Given the description of an element on the screen output the (x, y) to click on. 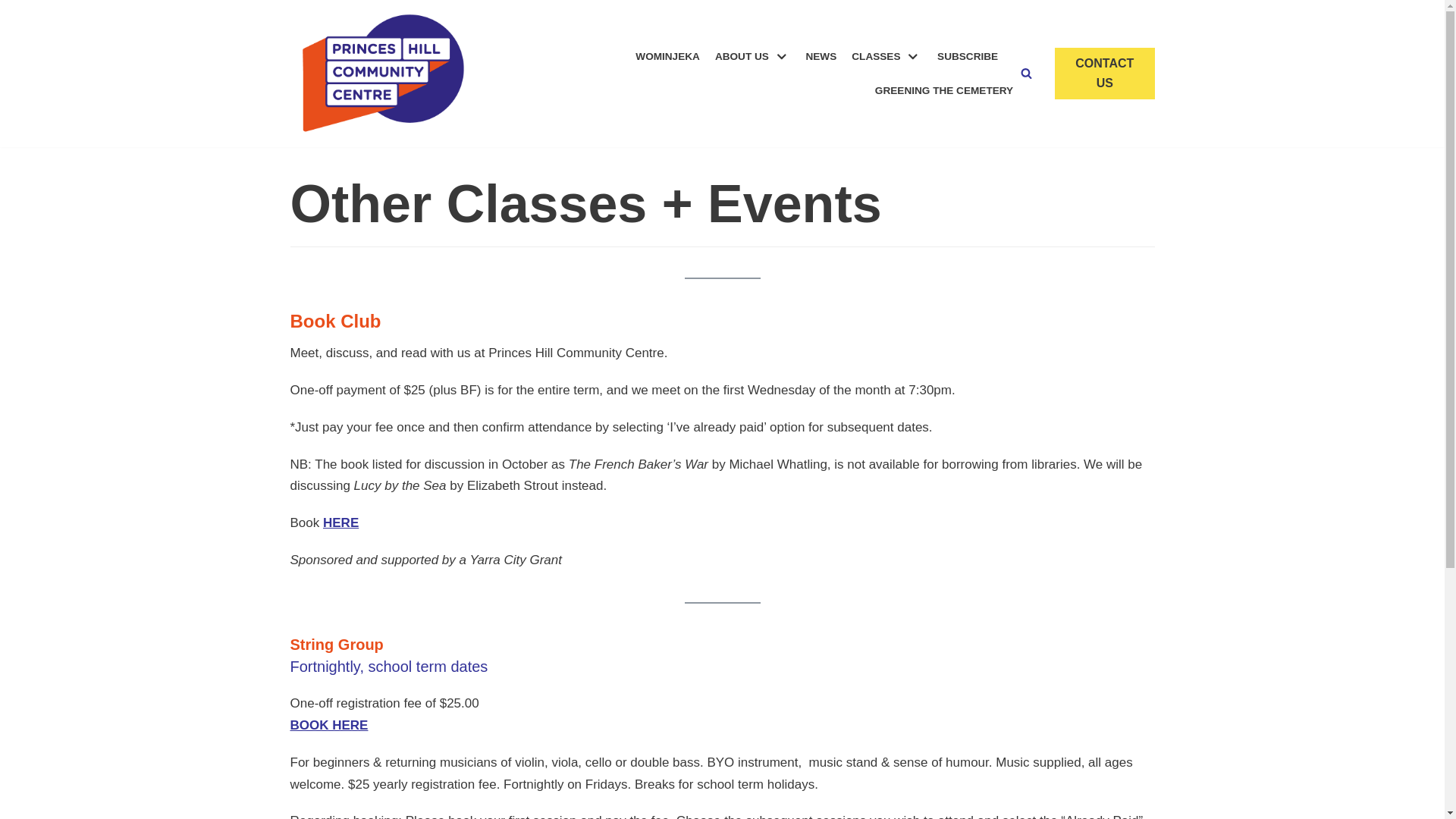
CONTACT US Element type: text (1104, 72)
Skip to content Element type: text (15, 31)
HERE Element type: text (340, 522)
Search Element type: text (1137, 410)
WOMINJEKA Element type: text (667, 56)
BOOK HERE Element type: text (328, 725)
ABOUT US Element type: text (752, 56)
GREENING THE CEMETERY Element type: text (944, 90)
SUBSCRIBE Element type: text (967, 56)
Princes Hill Community Centre Element type: hover (381, 73)
NEWS Element type: text (820, 56)
CLASSES Element type: text (886, 56)
